Given the description of an element on the screen output the (x, y) to click on. 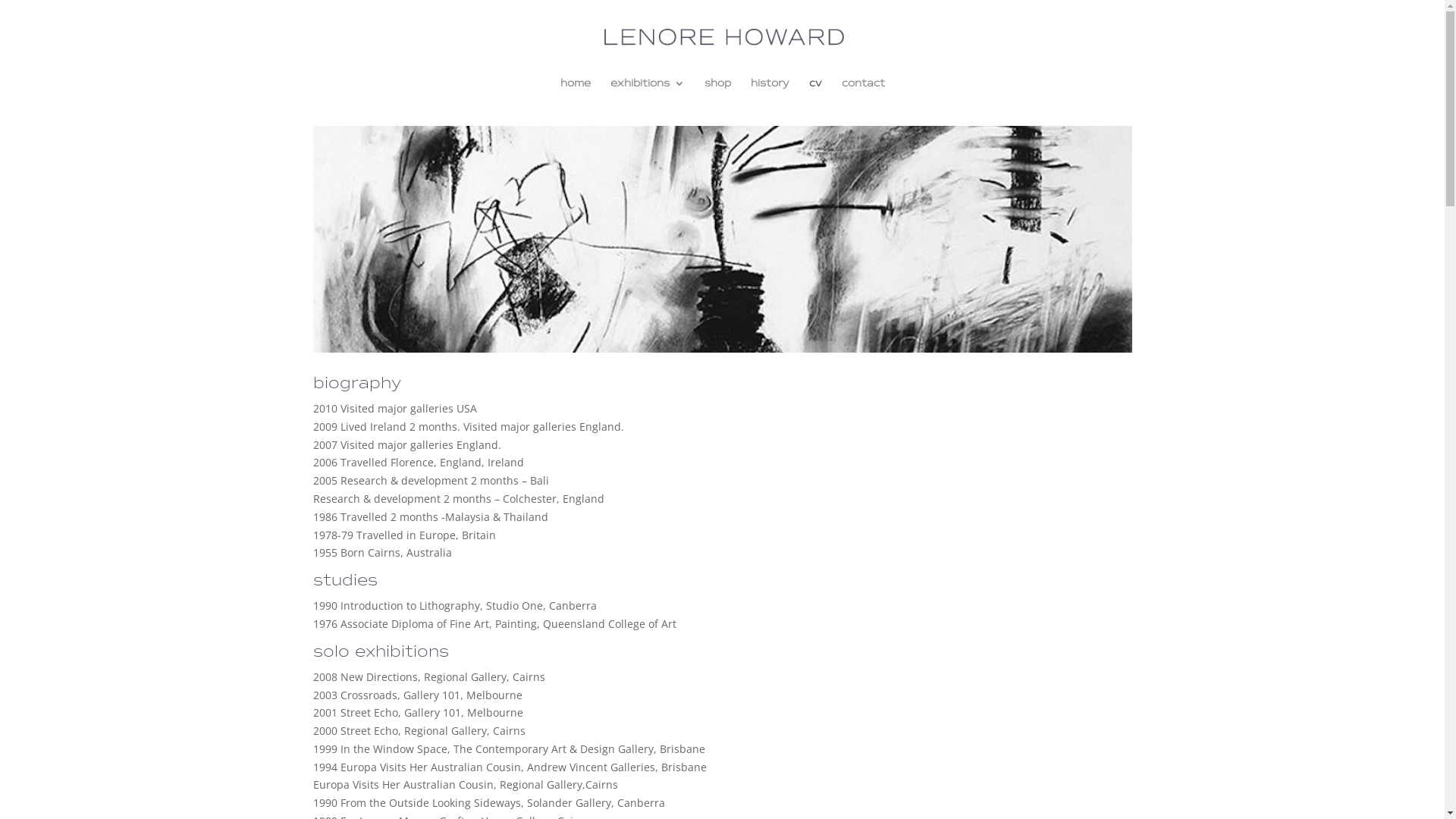
exhibitions Element type: text (646, 89)
shop Element type: text (716, 89)
cv Element type: text (814, 89)
history Element type: text (769, 89)
ABSTRACT-DRAWINGS-2004-2 Element type: hover (721, 238)
home Element type: text (574, 89)
contact Element type: text (862, 89)
